Given the description of an element on the screen output the (x, y) to click on. 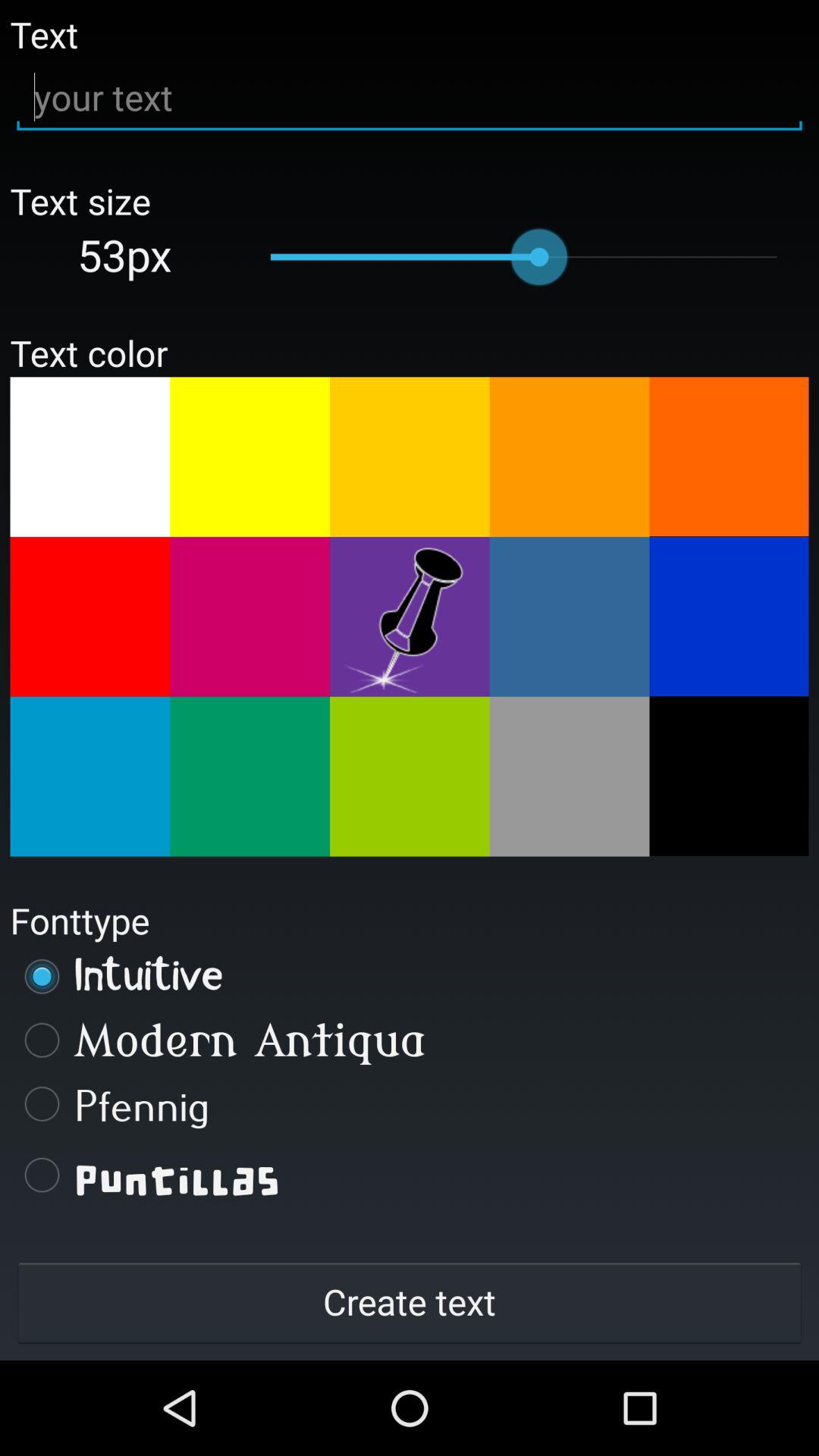
flashing colors fun fonts change text size push pin red square bright lights (409, 616)
